Given the description of an element on the screen output the (x, y) to click on. 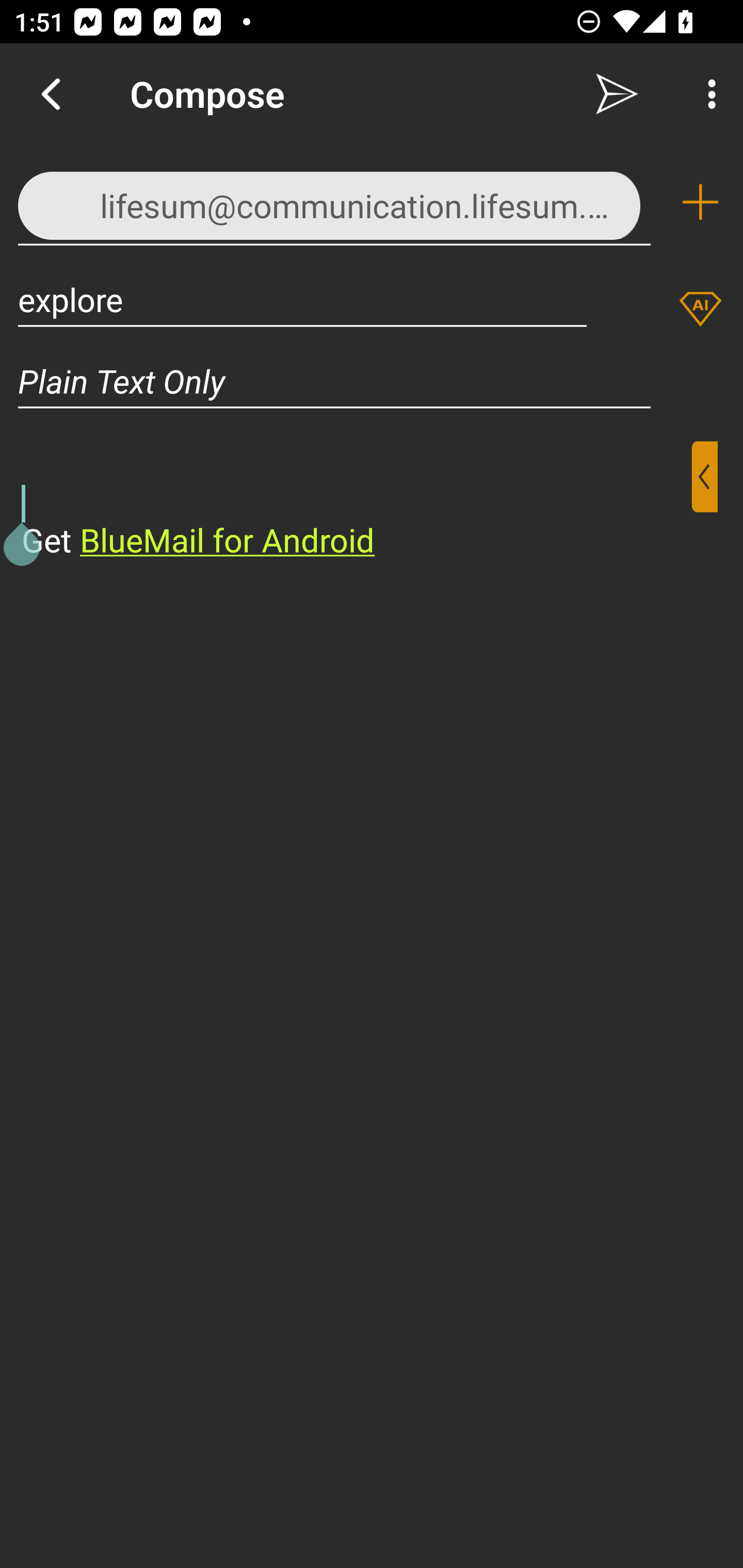
Navigate up (50, 93)
Send (616, 93)
More Options (706, 93)
<lifesum@communication.lifesum.com>,  (334, 201)
Add recipient (To) (699, 201)
explore (302, 299)
Plain Text Only (371, 380)


⁣Get BlueMail for Android ​ (355, 501)
